Given the description of an element on the screen output the (x, y) to click on. 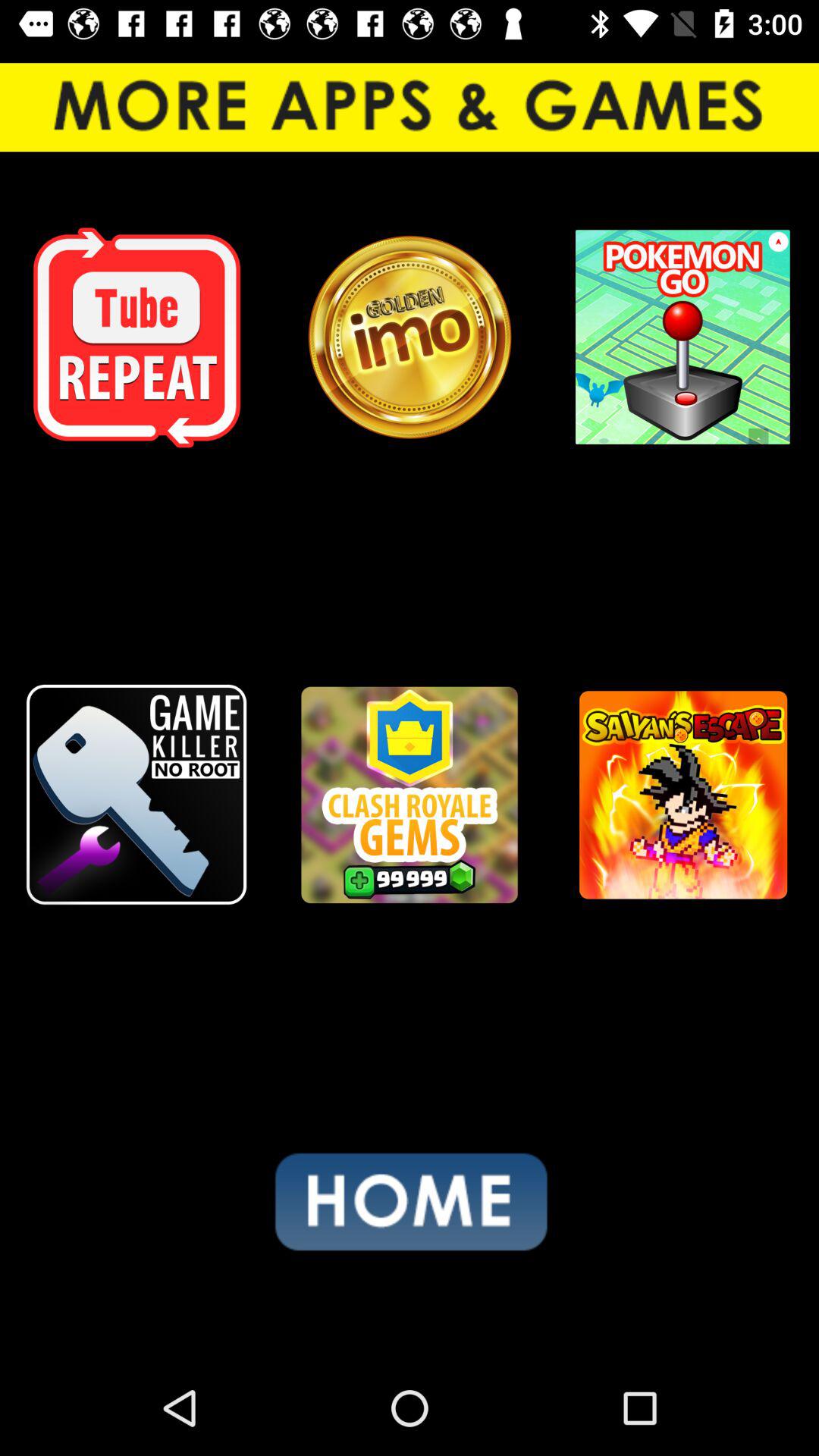
select the icon at the top right corner (682, 337)
